Given the description of an element on the screen output the (x, y) to click on. 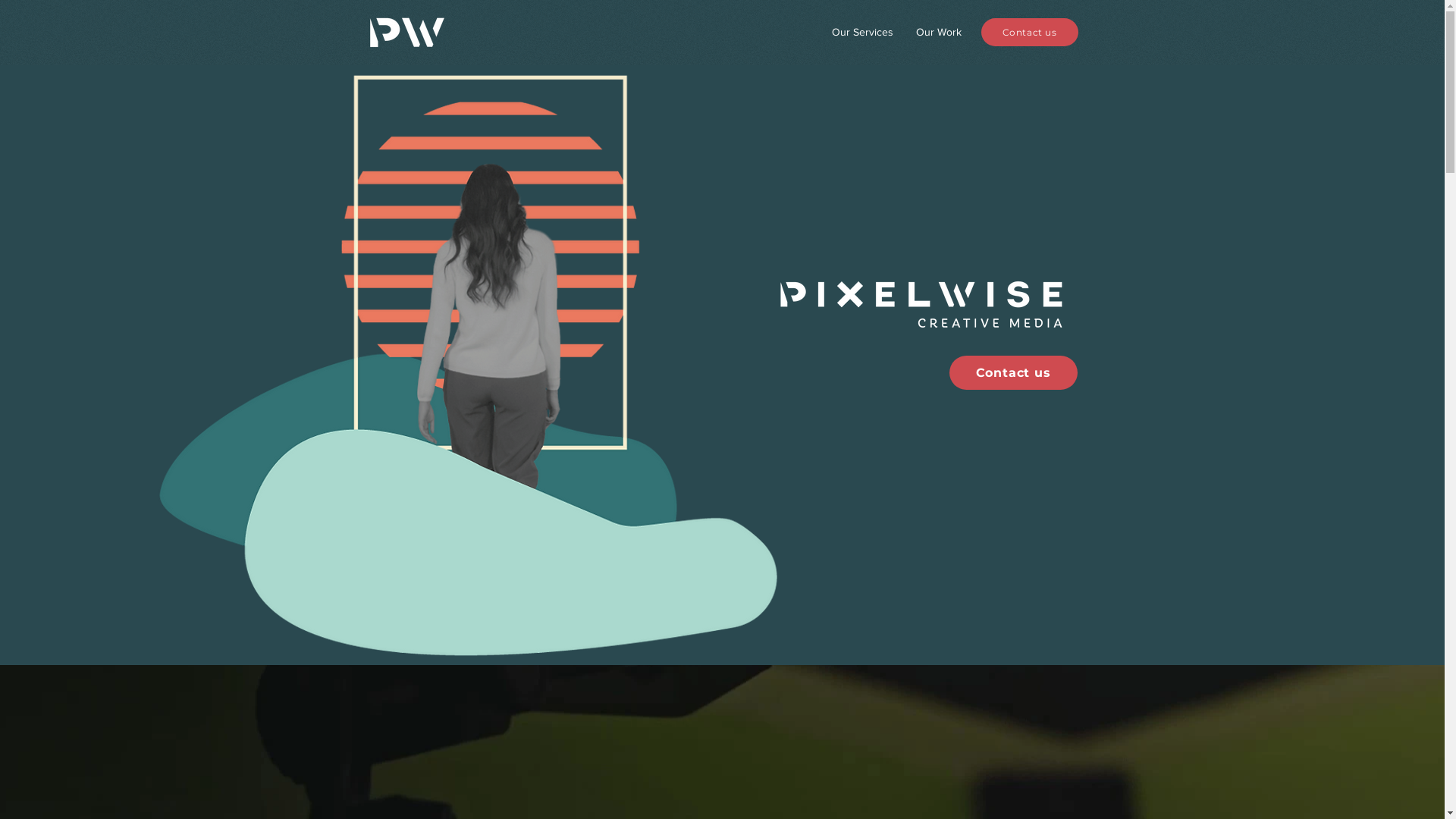
Our Work Element type: text (937, 32)
Contact us Element type: text (1029, 32)
Contact us Element type: text (1013, 372)
